Given the description of an element on the screen output the (x, y) to click on. 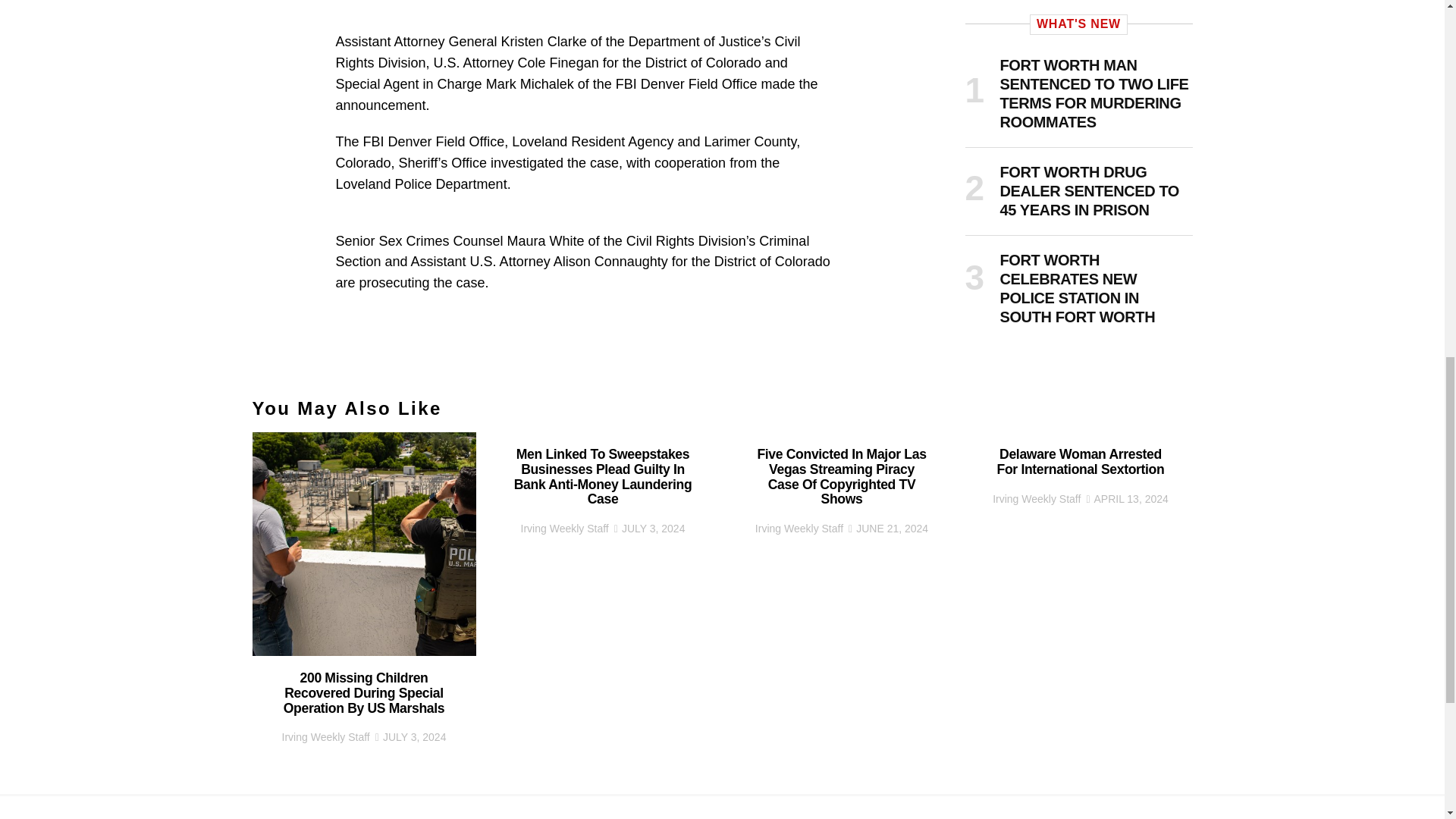
Posts by Irving Weekly Staff (325, 736)
Posts by Irving Weekly Staff (799, 528)
Posts by Irving Weekly Staff (1036, 499)
Posts by Irving Weekly Staff (564, 528)
